Given the description of an element on the screen output the (x, y) to click on. 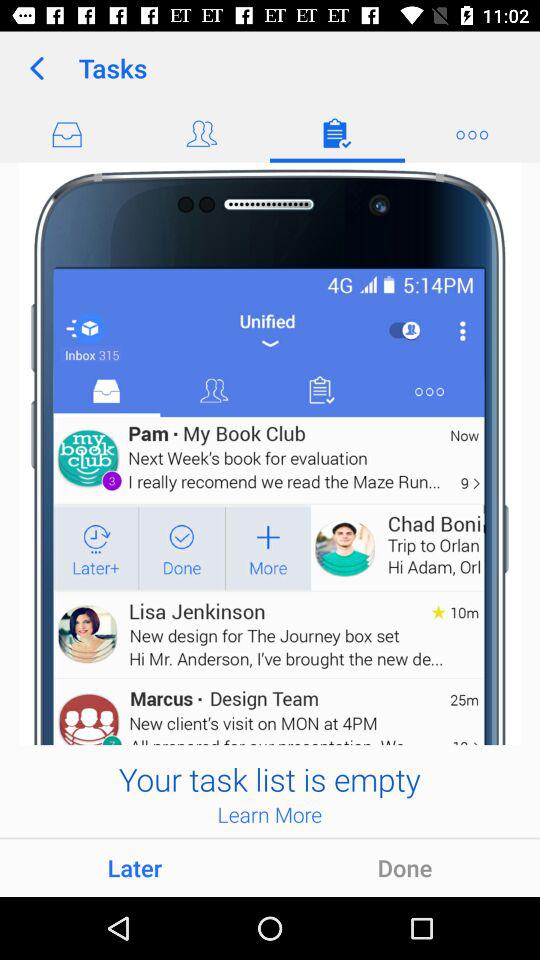
tap the app to the left of the tasks (36, 68)
